Given the description of an element on the screen output the (x, y) to click on. 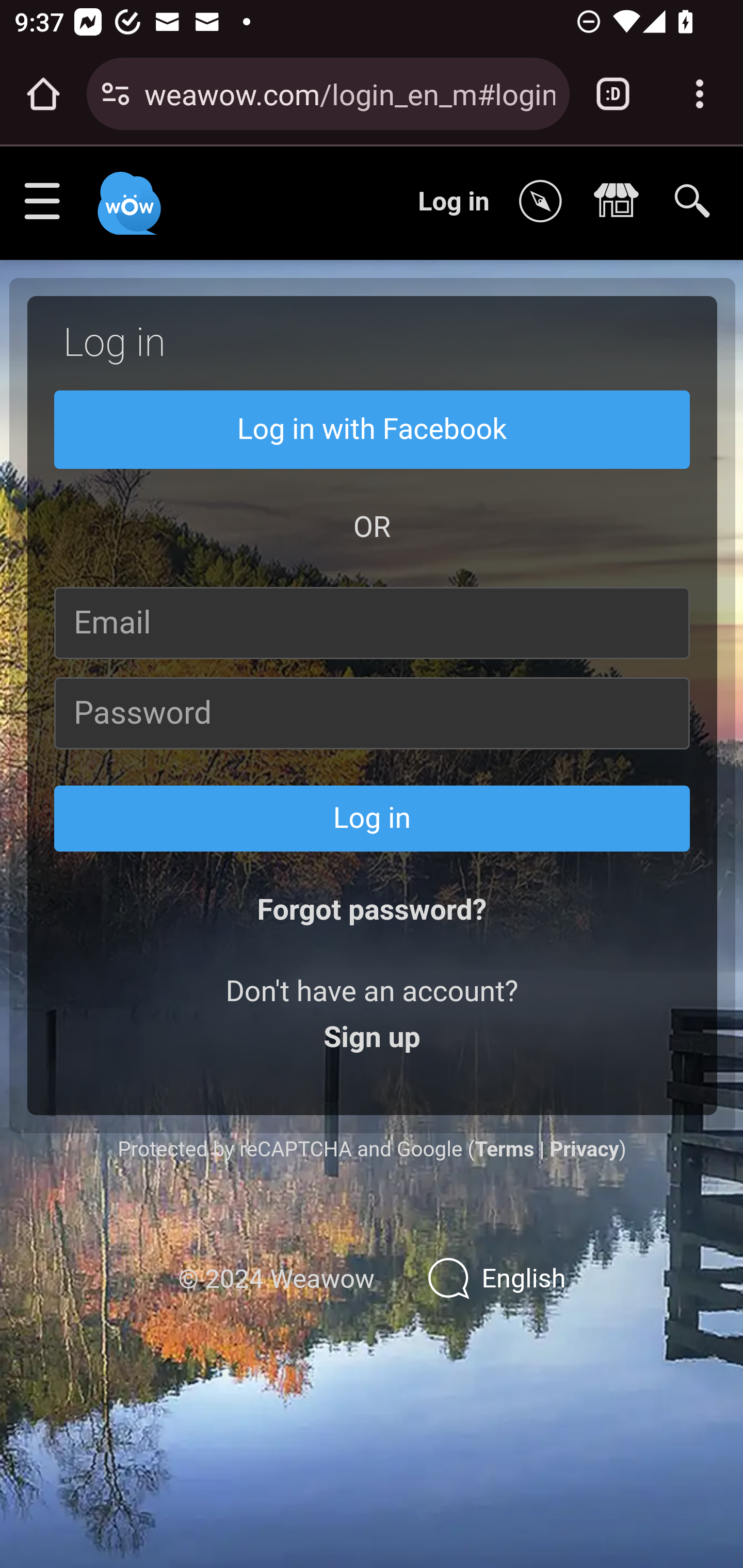
Open the home page (43, 93)
Connection is secure (115, 93)
Switch or close tabs (612, 93)
Customize and control Google Chrome (699, 93)
weawow.com/login_en_m#login (349, 92)
Weawow (127, 194)
 (545, 201)
 (621, 201)
Log in (453, 201)
Log in (372, 817)
Forgot password? (371, 910)
Sign up (371, 1037)
Terms (503, 1148)
Privacy (583, 1148)
© 2024 Weawow (275, 1279)
